Given the description of an element on the screen output the (x, y) to click on. 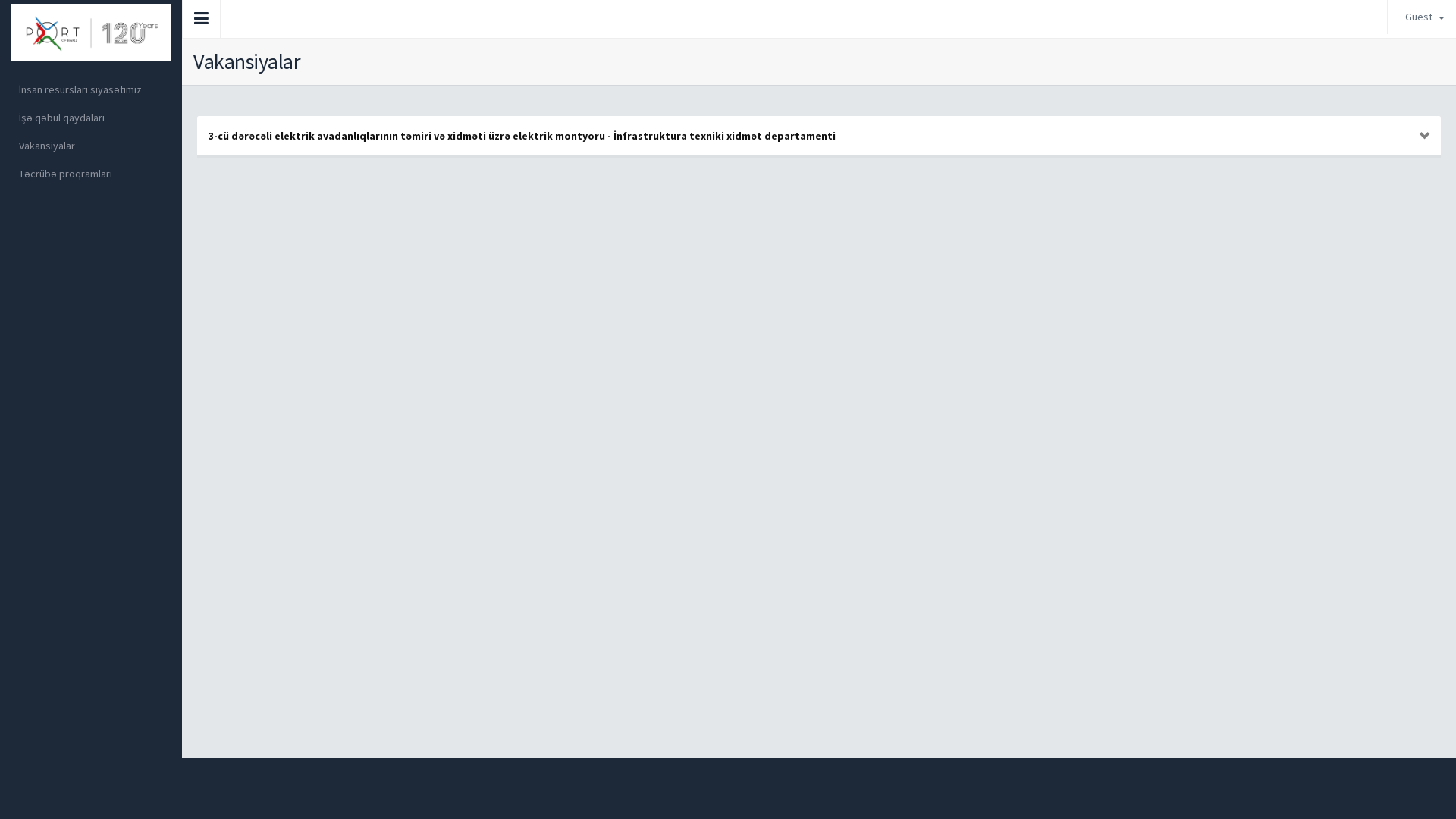
Vakansiyalar Element type: text (90, 145)
Guest Element type: text (1421, 17)
